Given the description of an element on the screen output the (x, y) to click on. 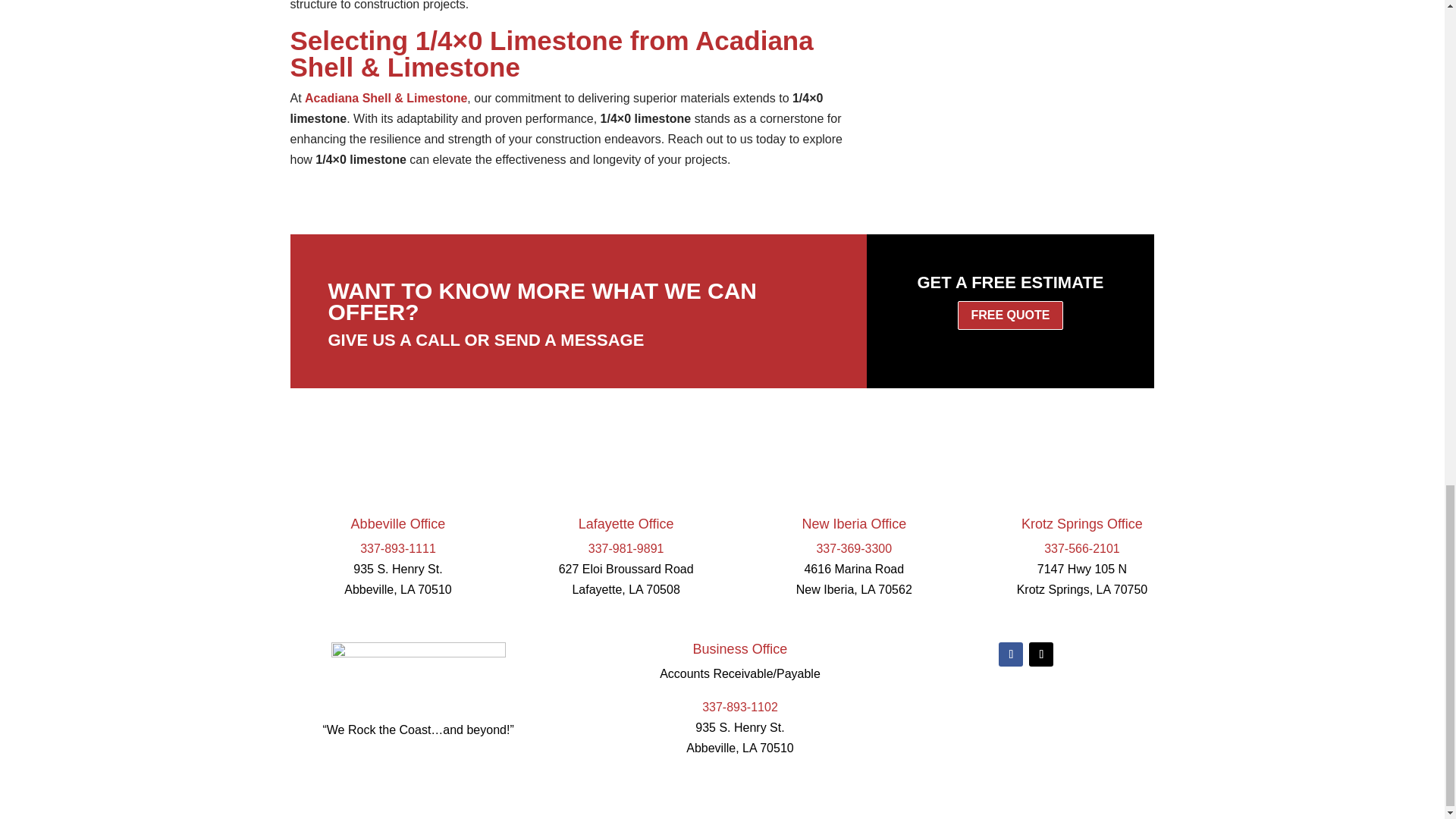
337-981-9891 (625, 548)
337-893-1111 (397, 548)
337-369-3300 (853, 548)
FREE QUOTE (1010, 315)
337-566-2101 (1081, 548)
Follow on X (1040, 654)
337-893-1102 (739, 707)
Follow on Facebook (1010, 654)
